Given the description of an element on the screen output the (x, y) to click on. 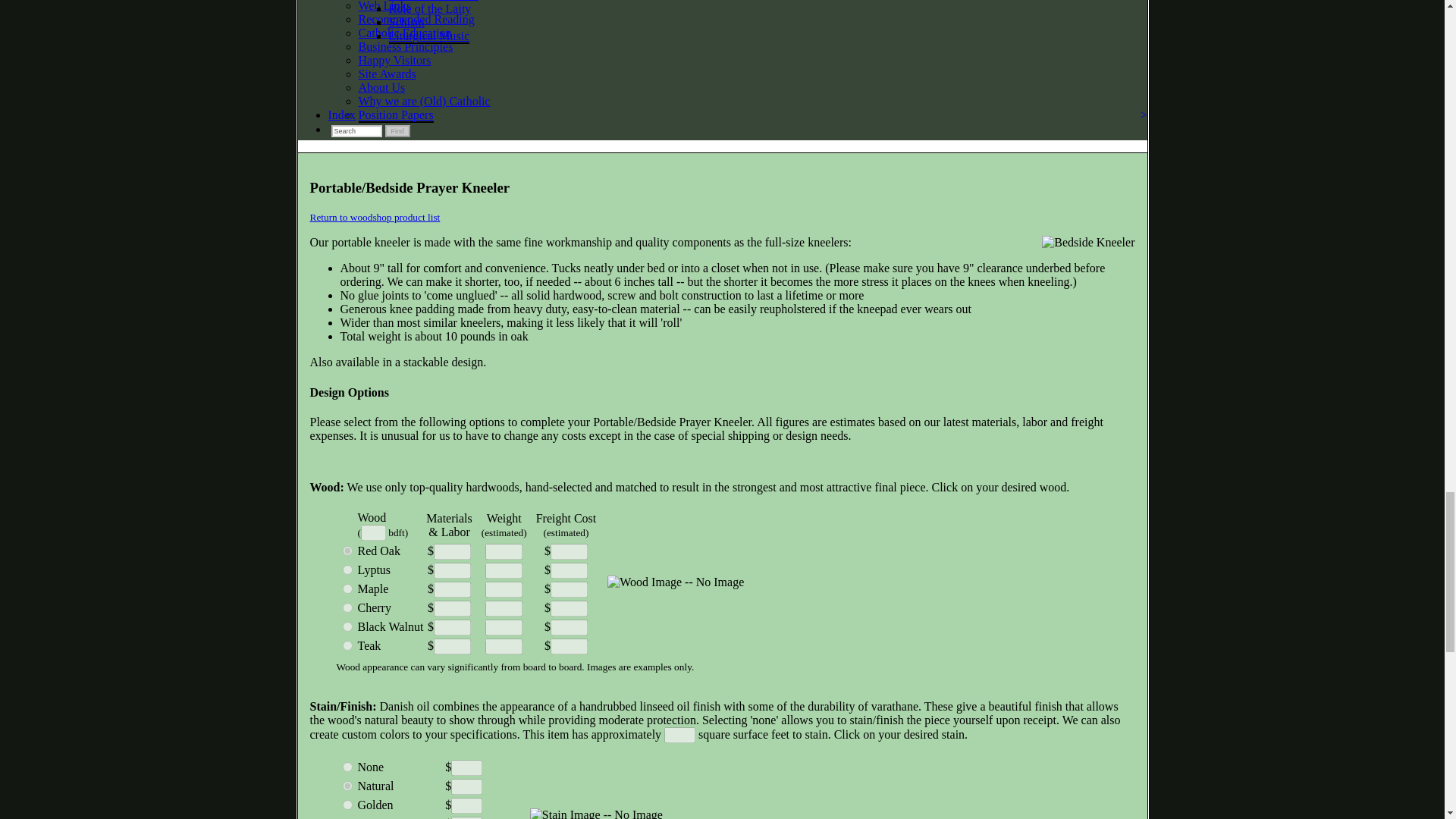
WD-BFCHE (347, 607)
WD-BFLPT (347, 569)
Search Inventory (355, 131)
WD-BFOAK (347, 551)
Search (355, 131)
WD-BFWAL (347, 626)
WD-BFMAP (347, 588)
Find (397, 131)
